Given the description of an element on the screen output the (x, y) to click on. 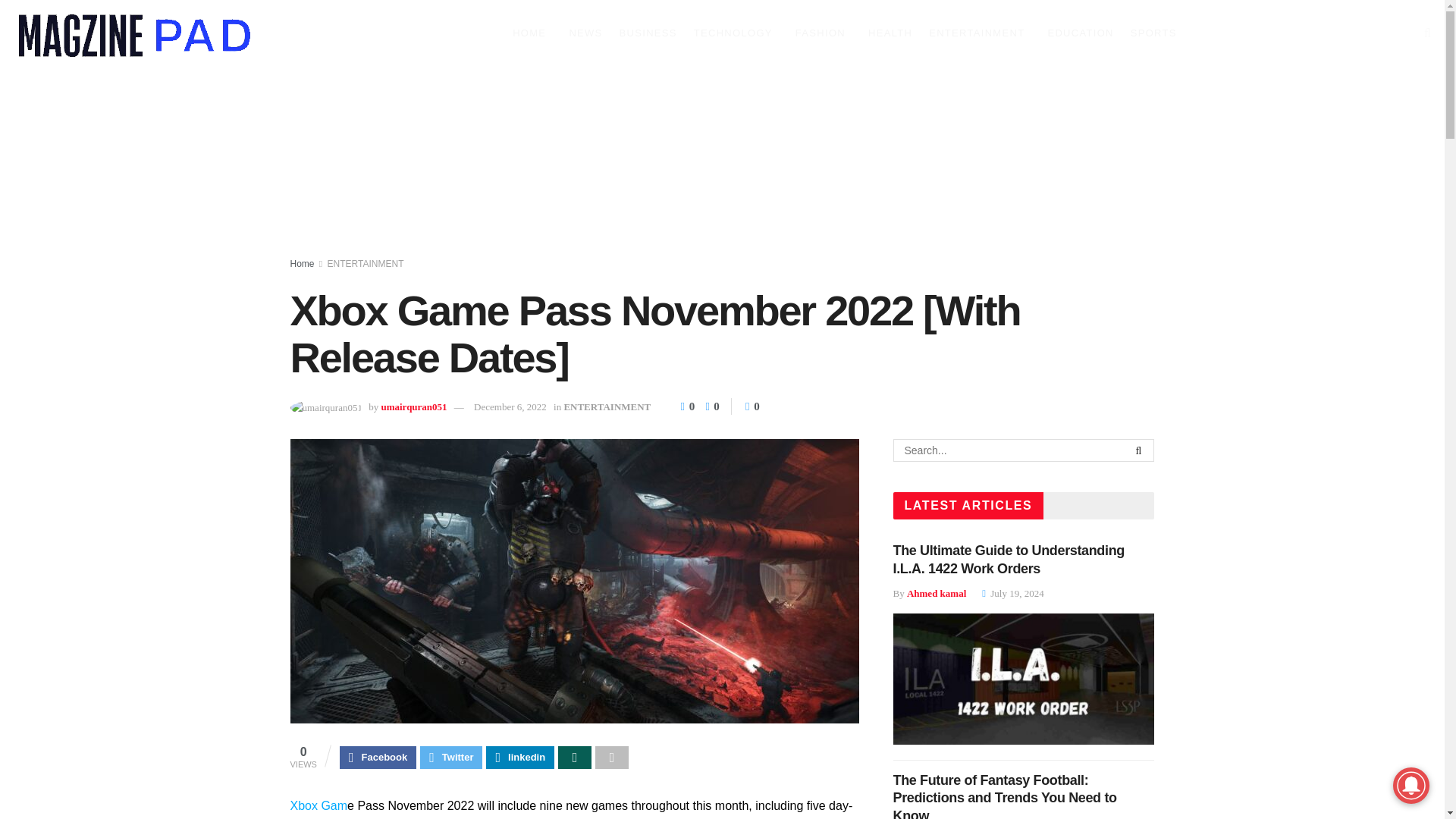
ENTERTAINMENT (979, 33)
Twitter (450, 757)
umairquran051 (413, 406)
linkedin (520, 757)
December 6, 2022 (510, 406)
EDUCATION (1079, 33)
Facebook (377, 757)
ENTERTAINMENT (365, 263)
Advertisement (721, 164)
TECHNOLOGY (736, 33)
0 (708, 406)
0 (752, 406)
ENTERTAINMENT (606, 406)
Home (301, 263)
0 (689, 406)
